Given the description of an element on the screen output the (x, y) to click on. 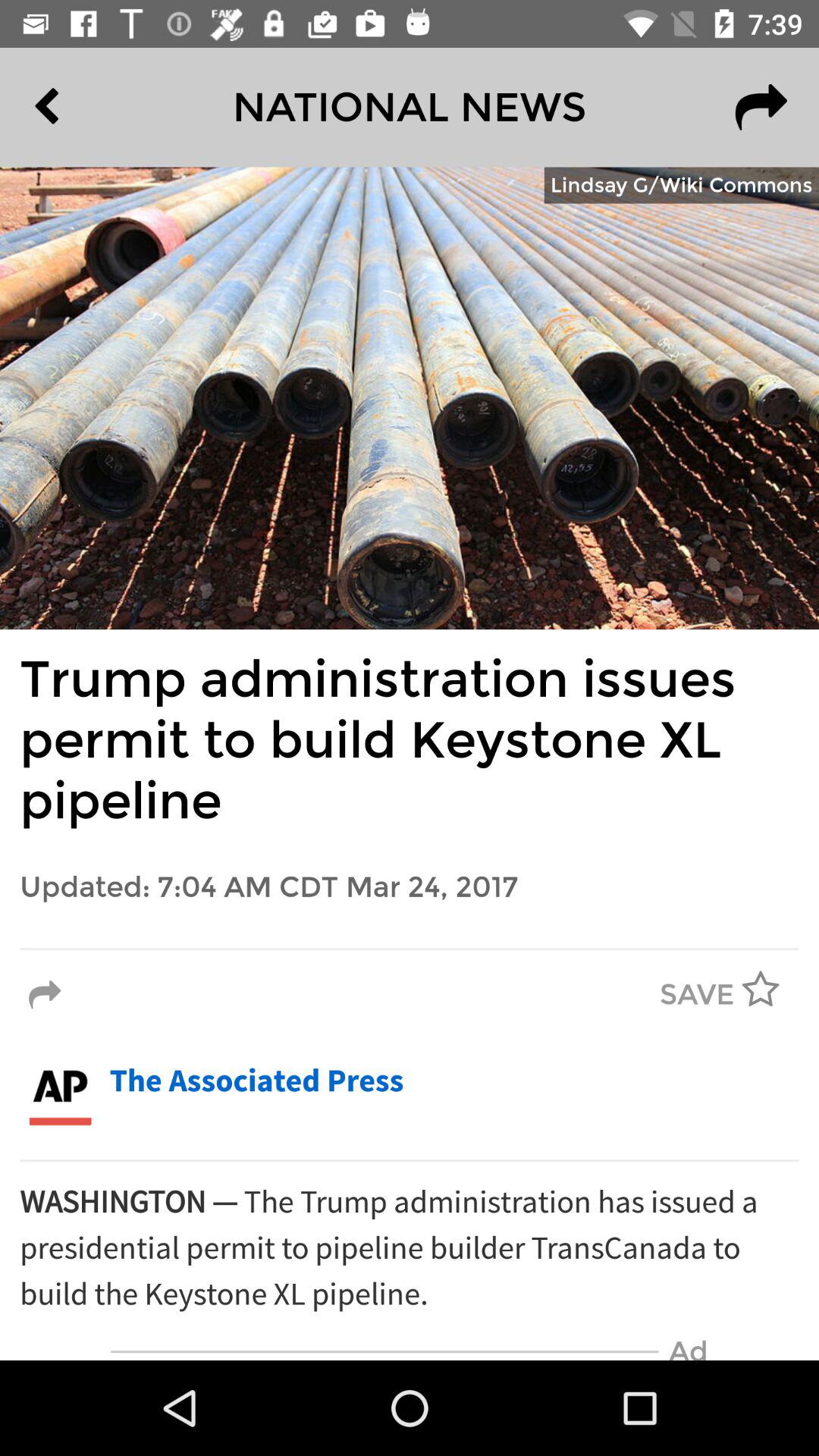
turn on item above ad (409, 1248)
